Given the description of an element on the screen output the (x, y) to click on. 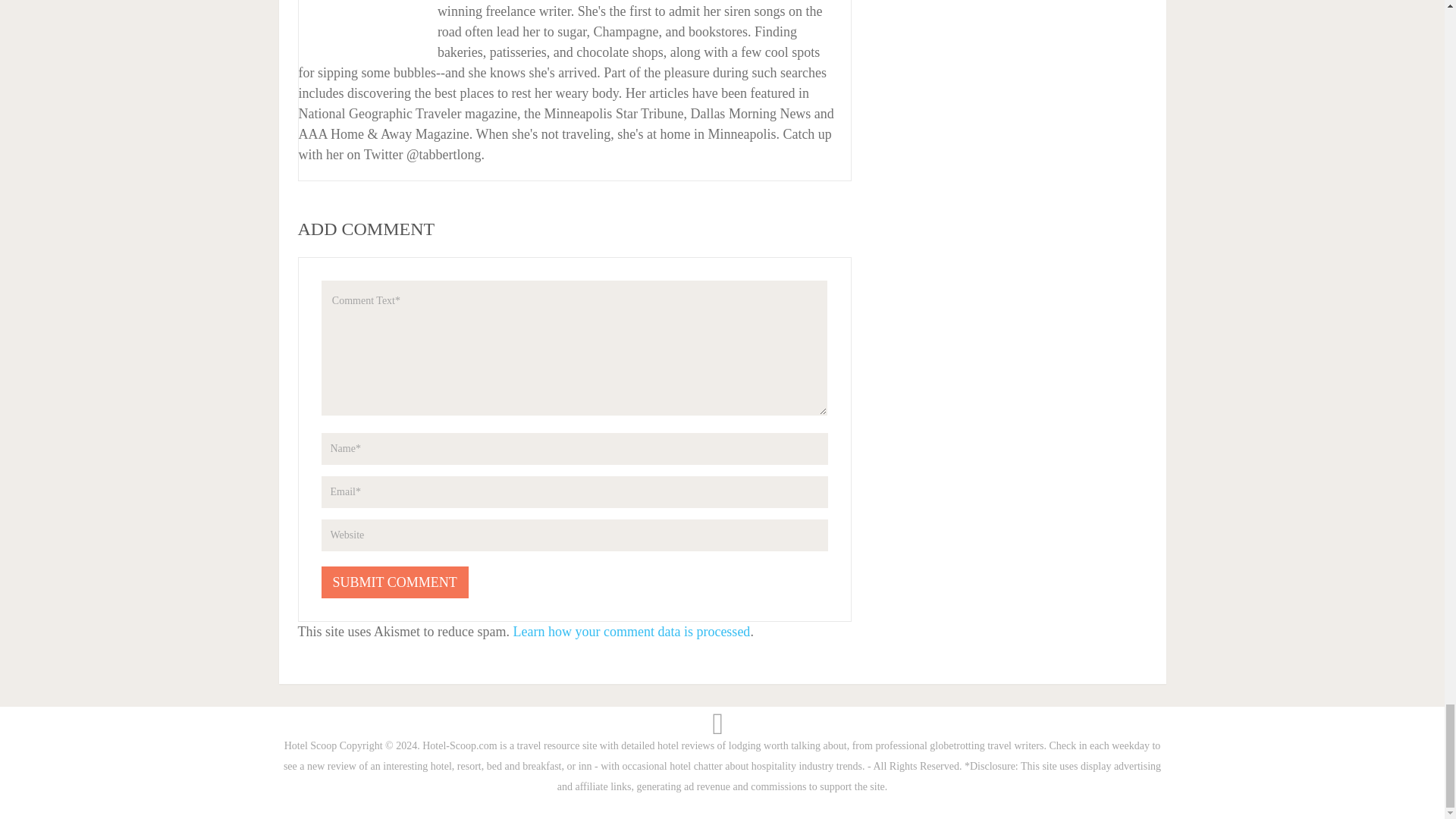
Submit Comment (394, 582)
